Given the description of an element on the screen output the (x, y) to click on. 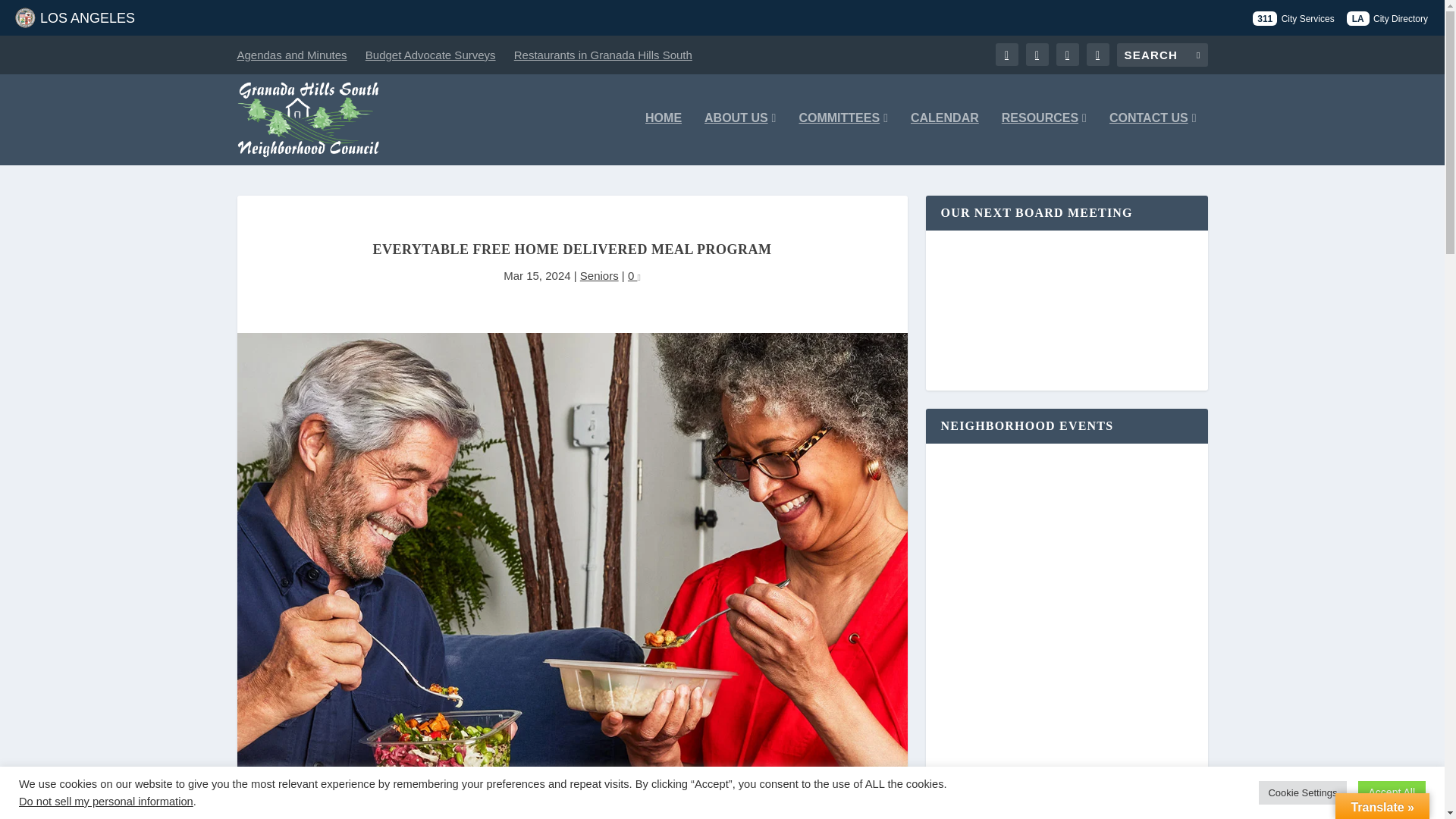
ABOUT US (740, 138)
Search for: (1161, 54)
Budget Advocate Surveys (430, 55)
RESOURCES (1043, 138)
Restaurants in Granada Hills South (603, 55)
311 City Services (1292, 18)
CALENDAR (944, 138)
LA City Directory (1387, 18)
COMMITTEES (842, 138)
Agendas and Minutes (290, 55)
